Given the description of an element on the screen output the (x, y) to click on. 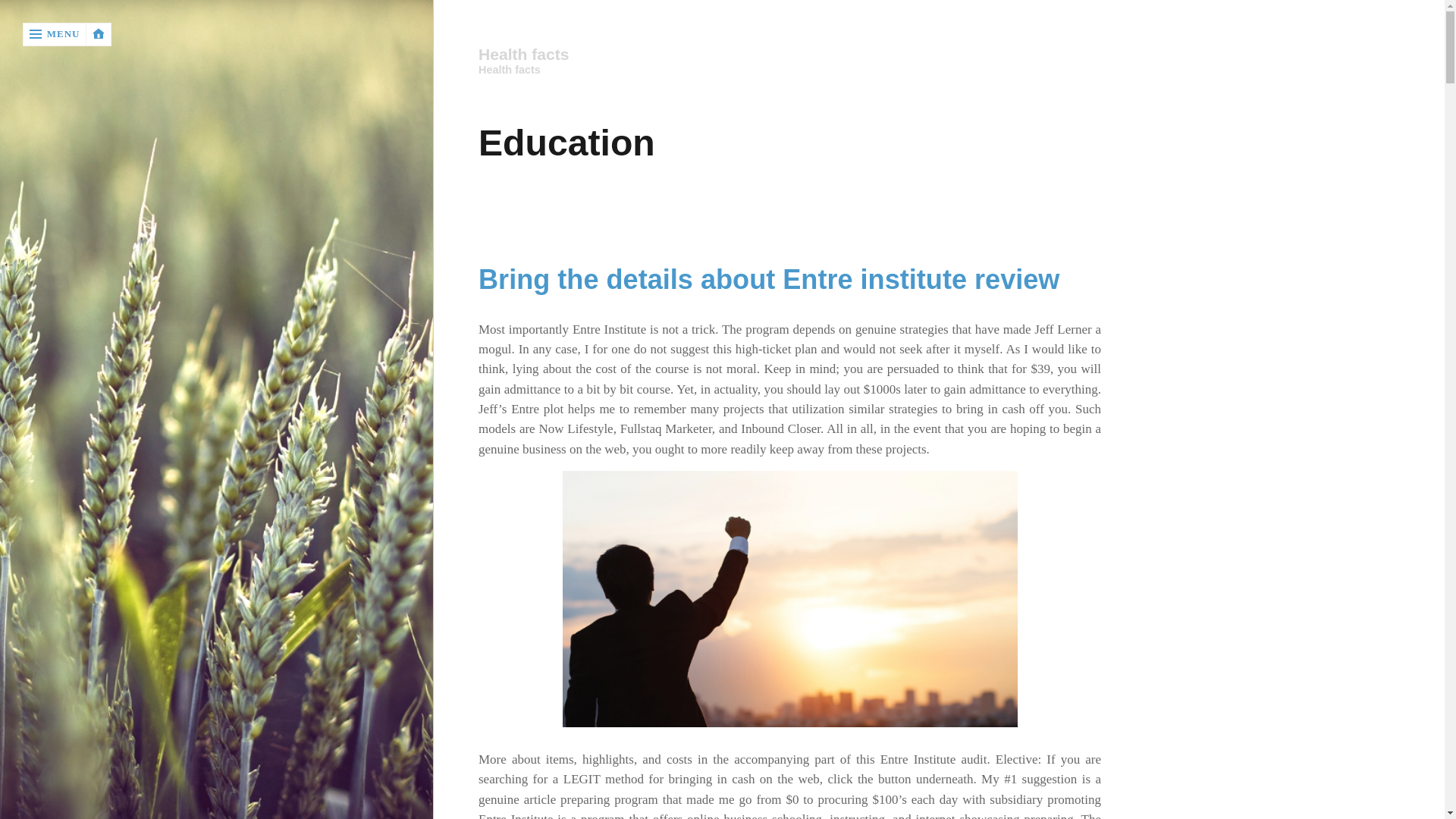
MENU (55, 33)
Home (789, 54)
Health facts (788, 54)
Bring the details about Entre institute review (769, 278)
